Given the description of an element on the screen output the (x, y) to click on. 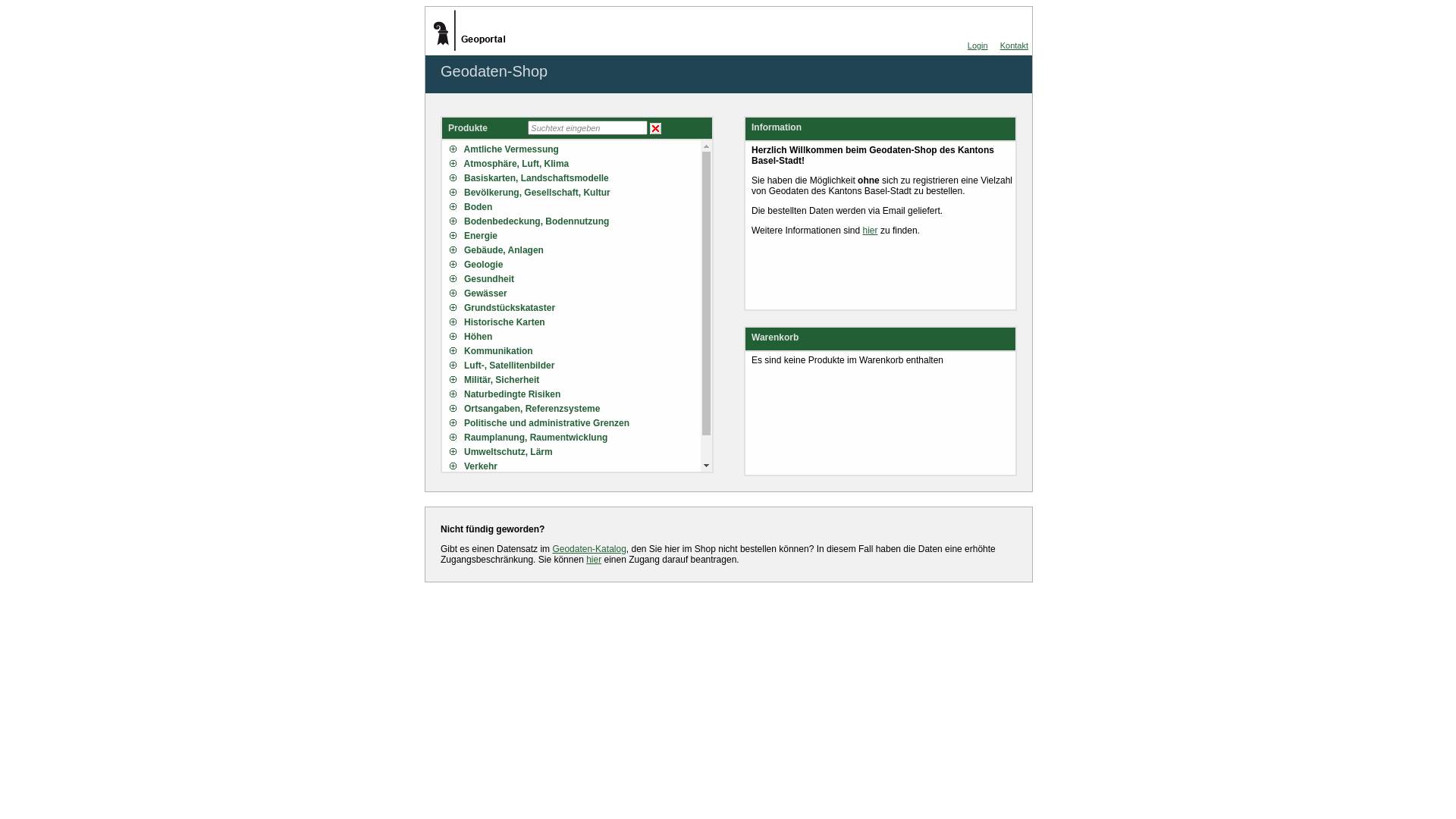
   Ortsangaben, Referenzsysteme Element type: text (574, 408)
   Bodenbedeckung, Bodennutzung Element type: text (574, 221)
   Basiskarten, Landschaftsmodelle Element type: text (574, 177)
Login Element type: text (977, 45)
   Amtliche Vermessung Element type: text (574, 149)
   Luft-, Satellitenbilder Element type: text (574, 365)
   Kommunikation Element type: text (574, 350)
hier Element type: text (593, 559)
   Politische und administrative Grenzen Element type: text (574, 422)
   Verkehr Element type: text (574, 466)
   Energie Element type: text (574, 235)
   Wasser- und Abfallsysteme Element type: text (574, 494)
hier Element type: text (870, 230)
   Gesundheit Element type: text (574, 278)
   Geologie Element type: text (574, 264)
   Boden Element type: text (574, 206)
   Wald, Flora, Fauna Element type: text (574, 480)
   Naturbedingte Risiken Element type: text (574, 394)
Geodaten-Katalog Element type: text (588, 548)
Kontakt Element type: text (1014, 45)
Suchtext eingeben Element type: text (587, 127)
   Raumplanung, Raumentwicklung Element type: text (574, 437)
   Historische Karten Element type: text (574, 321)
